Given the description of an element on the screen output the (x, y) to click on. 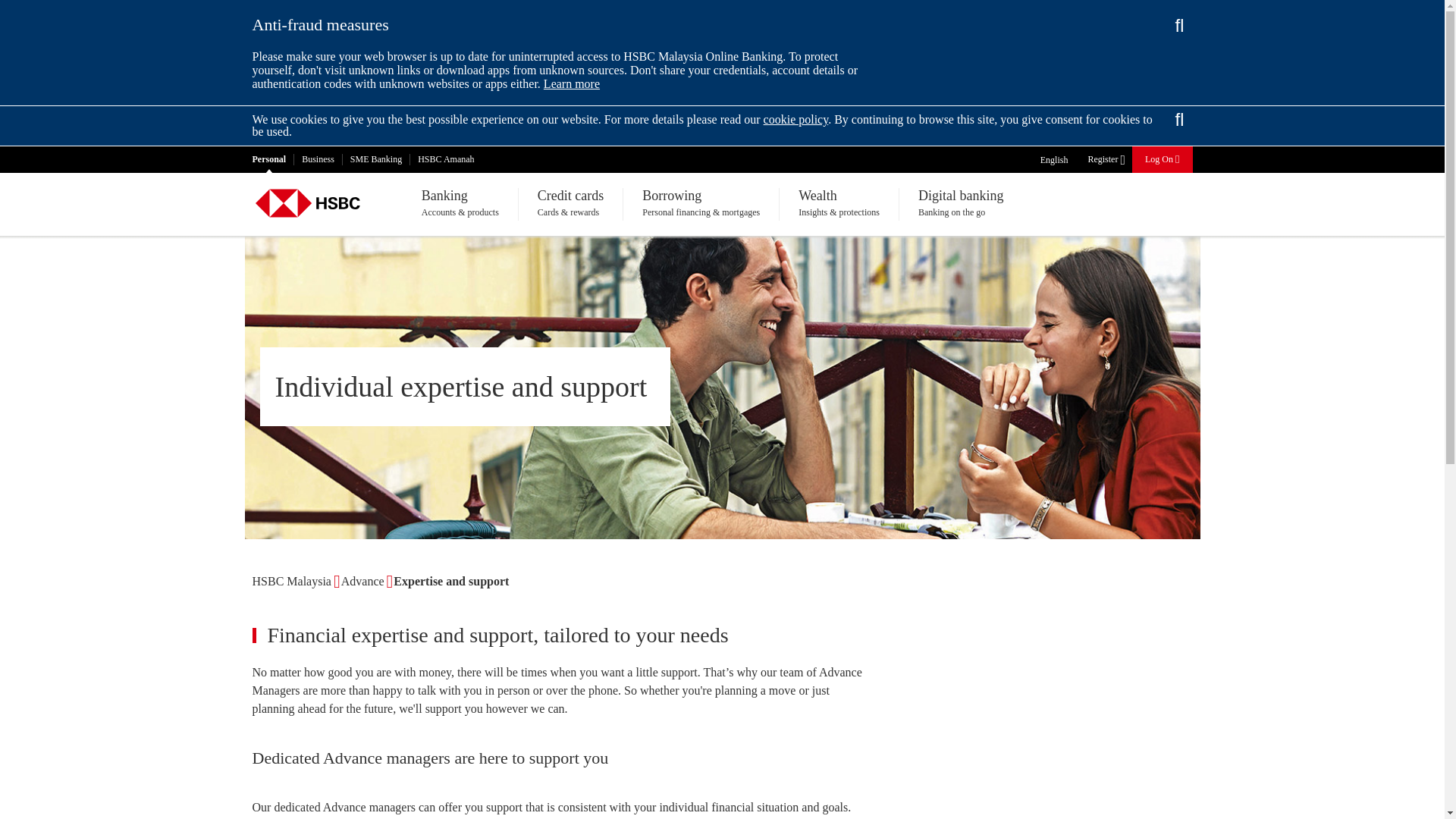
cookie policy (795, 119)
Log On (1162, 158)
Personal (269, 159)
HSBC Amanah (445, 159)
Business (318, 159)
SME Banking (376, 159)
Learn more (571, 83)
Register   (1104, 160)
